Given the description of an element on the screen output the (x, y) to click on. 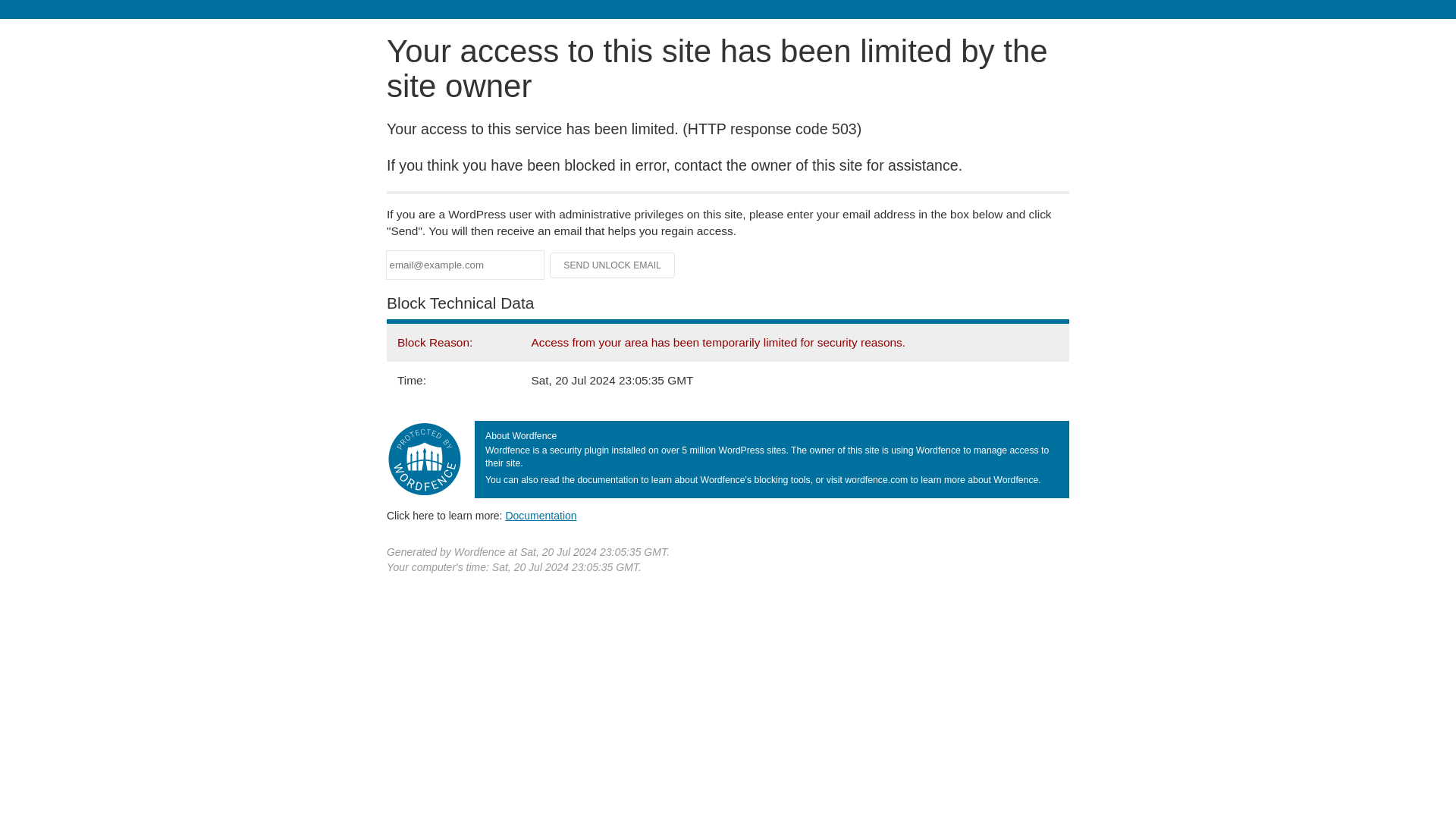
Documentation (540, 515)
Send Unlock Email (612, 265)
Send Unlock Email (612, 265)
